Given the description of an element on the screen output the (x, y) to click on. 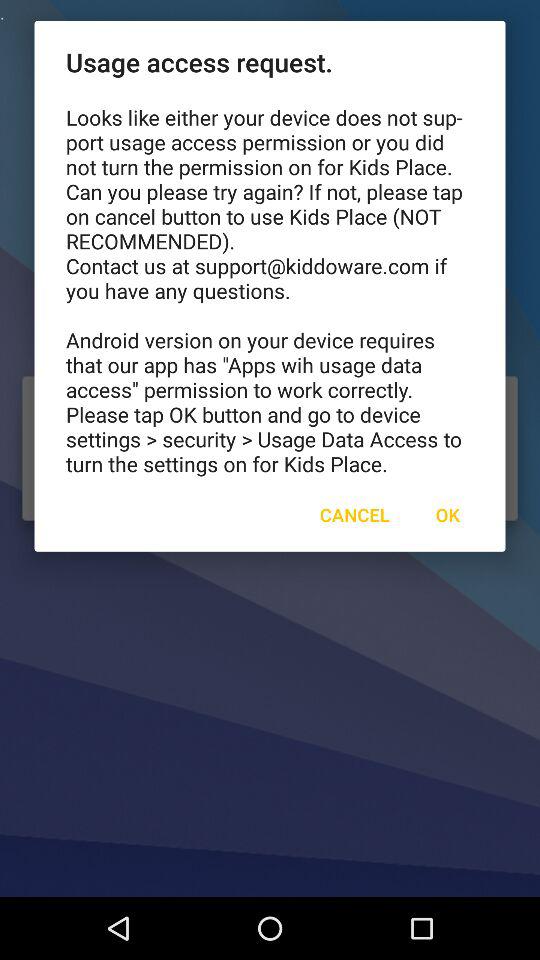
turn on ok on the right (447, 514)
